Given the description of an element on the screen output the (x, y) to click on. 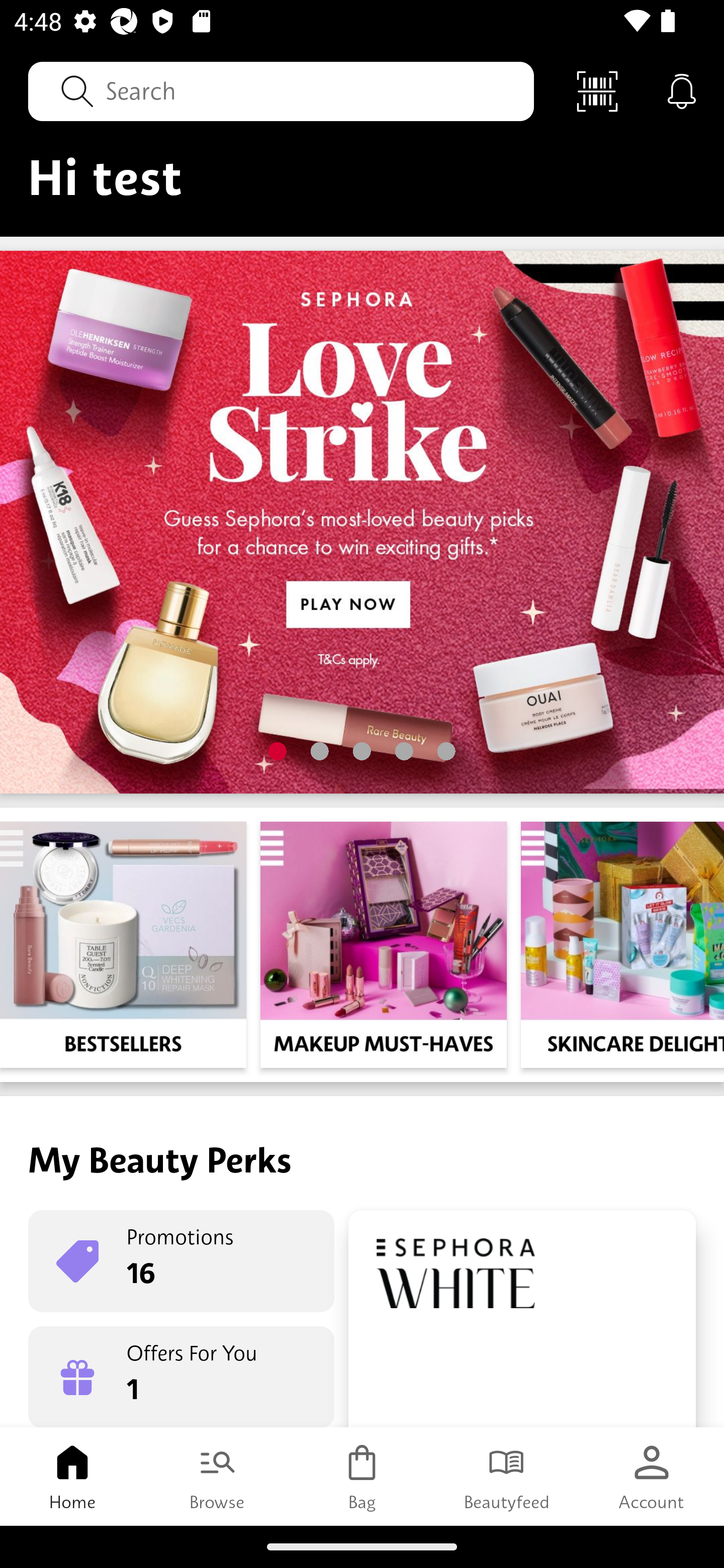
Scan Code (597, 90)
Notifications (681, 90)
Search (281, 90)
Promotions 16 (181, 1261)
Rewards Boutique 90 Pts (521, 1318)
Offers For You 1 (181, 1376)
Browse (216, 1475)
Bag (361, 1475)
Beautyfeed (506, 1475)
Account (651, 1475)
